Given the description of an element on the screen output the (x, y) to click on. 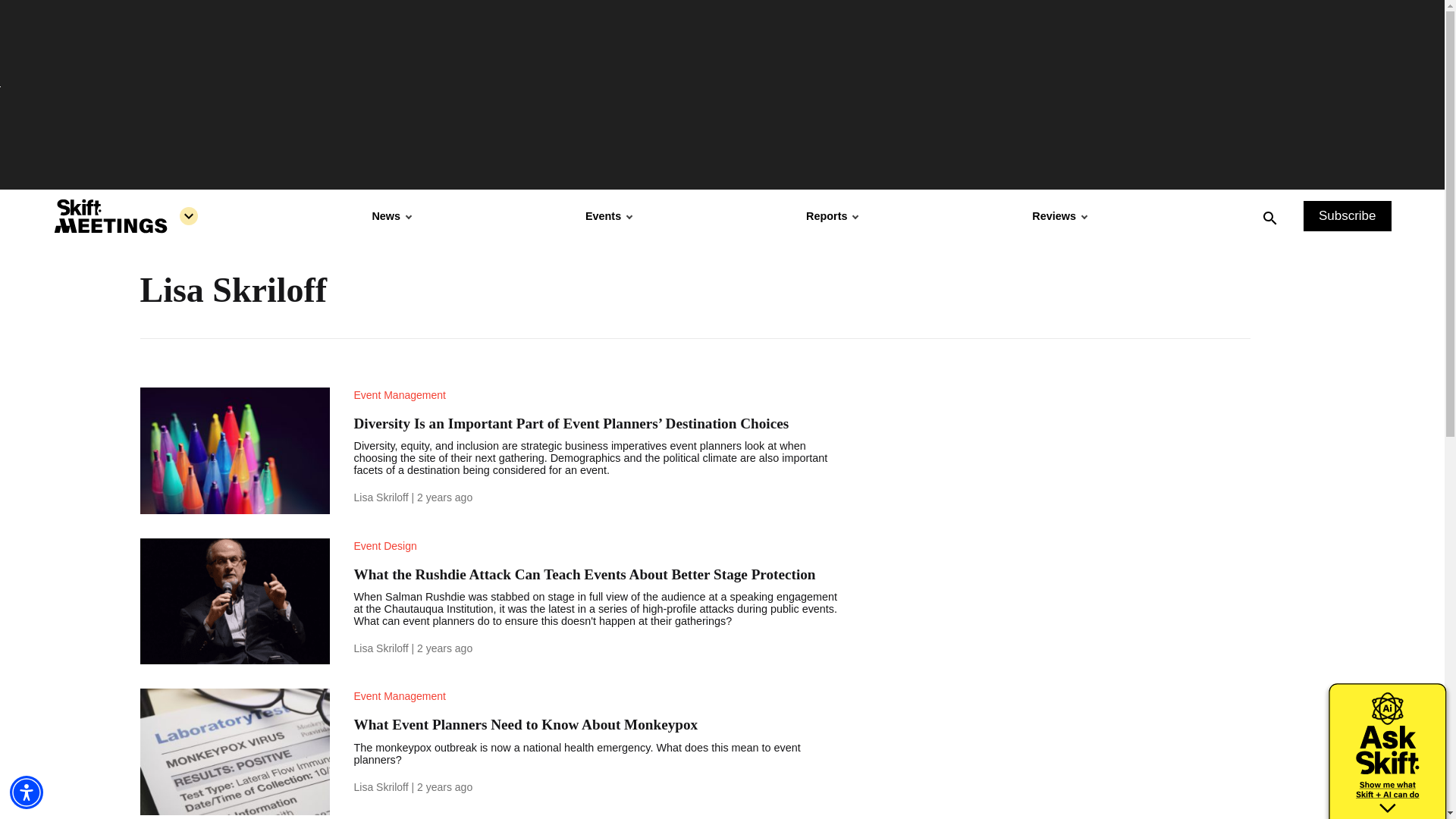
Subscribe (1347, 215)
3rd party ad content (1135, 482)
Reviews (1059, 215)
Reports (831, 215)
Accessibility Menu (26, 792)
